Given the description of an element on the screen output the (x, y) to click on. 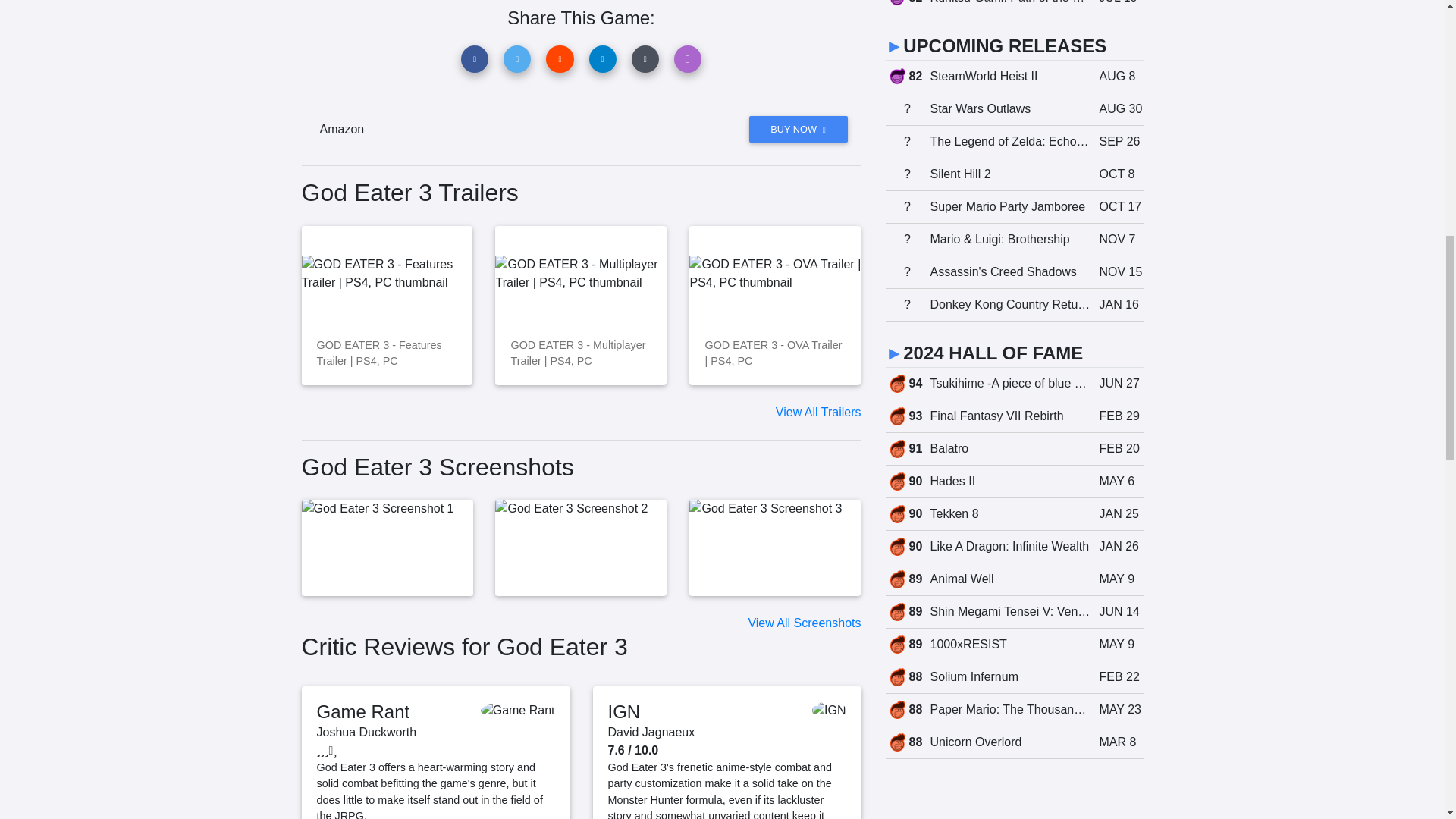
Game Rant (363, 711)
View All Trailers (818, 411)
BUY NOW (798, 129)
IGN (624, 711)
View All Screenshots (804, 622)
Joshua Duckworth (366, 731)
